Given the description of an element on the screen output the (x, y) to click on. 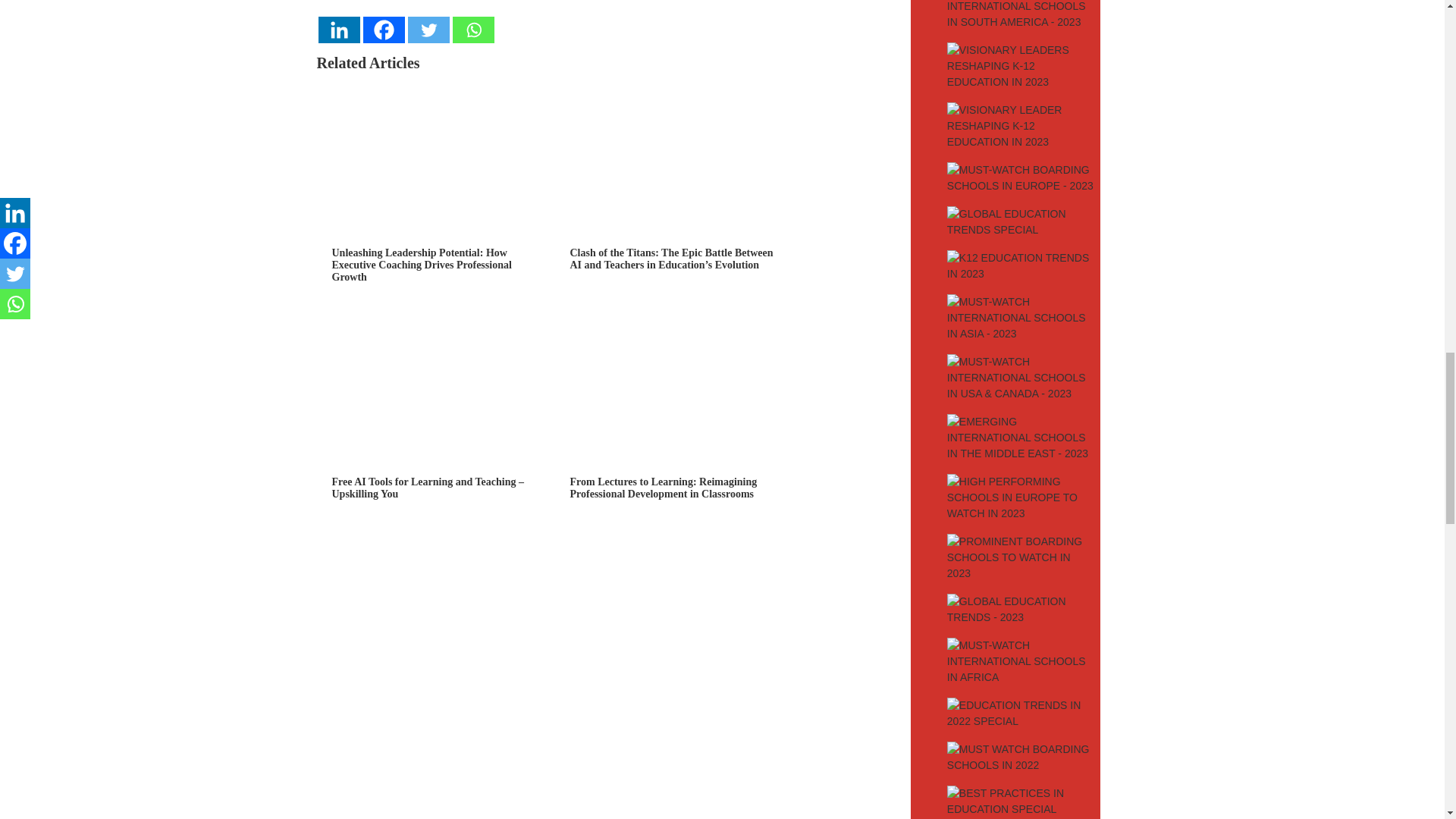
Twitter (428, 29)
Whatsapp (472, 29)
Linkedin (338, 29)
Facebook (383, 29)
